Given the description of an element on the screen output the (x, y) to click on. 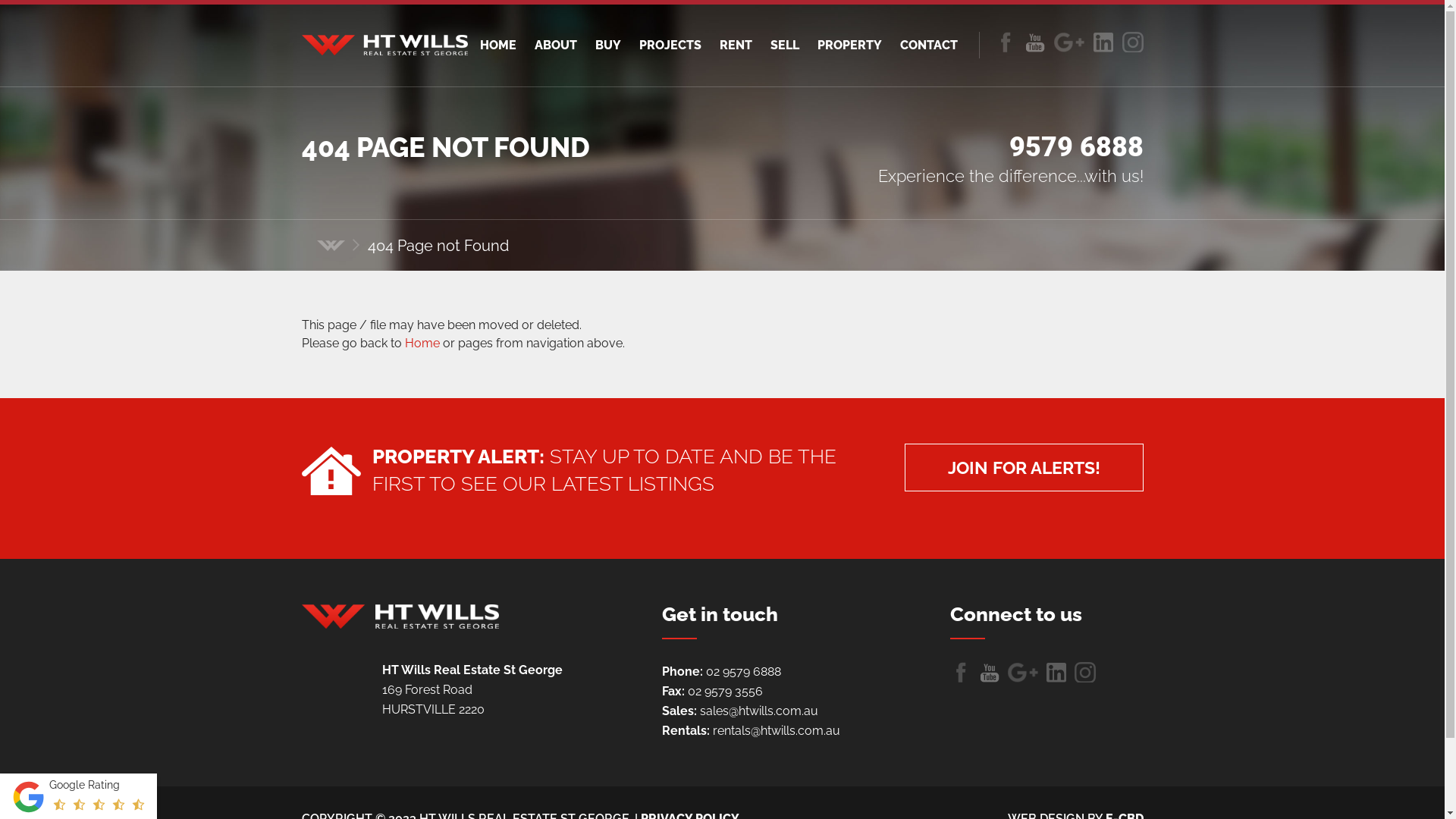
Like us on Facebook Element type: text (1005, 41)
HT Wills Real Estate Hurstville Element type: text (399, 616)
Follow us on Youtube Element type: text (988, 672)
JOIN FOR ALERTS! Element type: text (1022, 467)
Home Element type: text (330, 245)
ABOUT Element type: text (554, 45)
RENT Element type: text (734, 45)
HT Wills Real Estate Hurstville Element type: text (384, 44)
LinkedIn Element type: text (1132, 41)
CONTACT Element type: text (928, 45)
BUY Element type: text (607, 45)
rentals@htwills.com.au Element type: text (776, 730)
PROPERTY Element type: text (849, 45)
Follow us on Youtube Element type: text (1033, 41)
sales@htwills.com.au Element type: text (758, 710)
Home Element type: text (421, 342)
PROJECTS Element type: text (669, 45)
LinkedIn Element type: text (1055, 672)
Follow us on Google+ Element type: text (1069, 41)
LinkedIn Element type: text (1084, 672)
HOME Element type: text (497, 45)
SELL Element type: text (784, 45)
Like us on Facebook Element type: text (959, 672)
Follow us on Google+ Element type: text (1022, 672)
LinkedIn Element type: text (1102, 41)
